Given the description of an element on the screen output the (x, y) to click on. 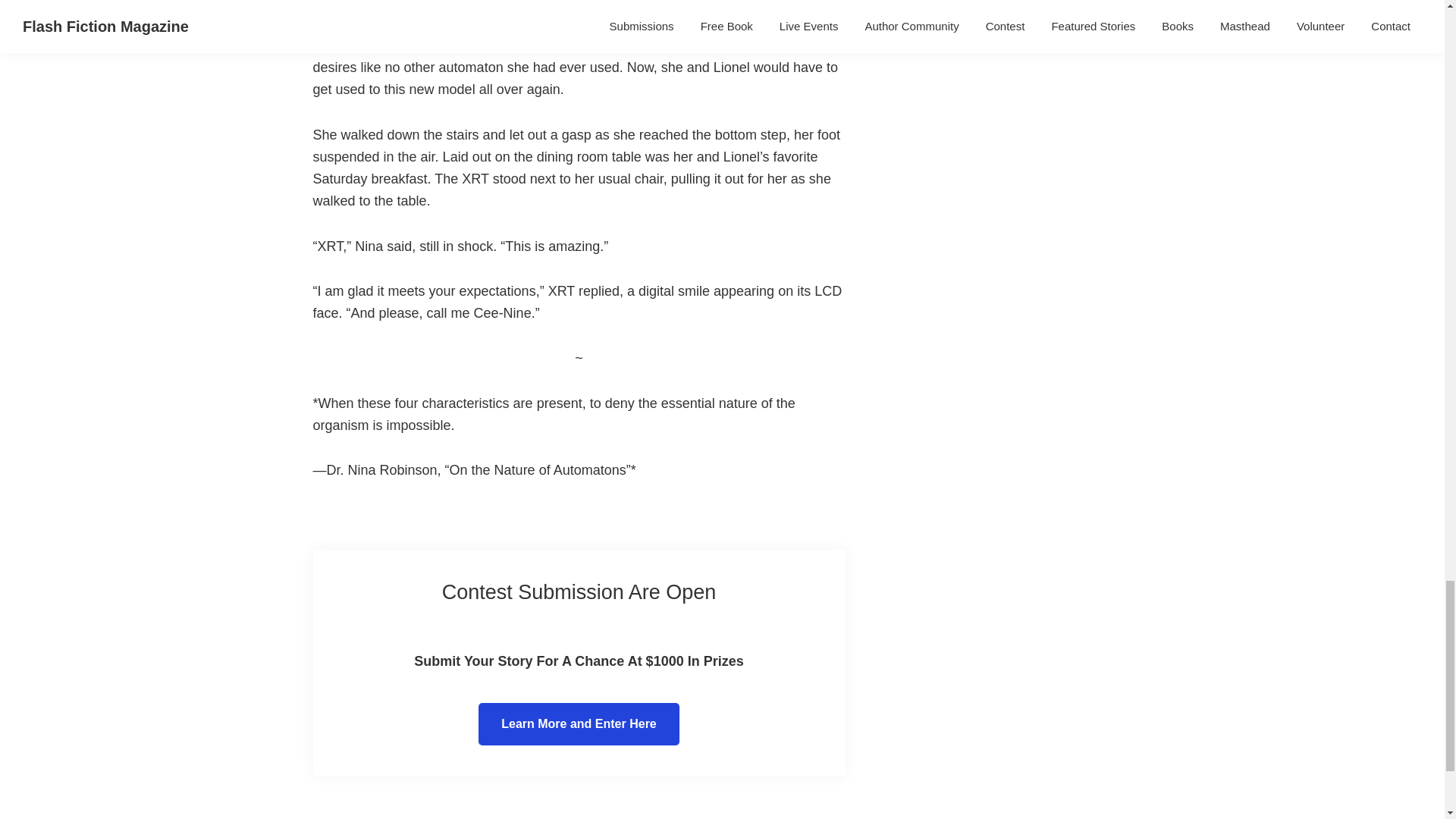
Learn More and Enter Here (579, 723)
